Given the description of an element on the screen output the (x, y) to click on. 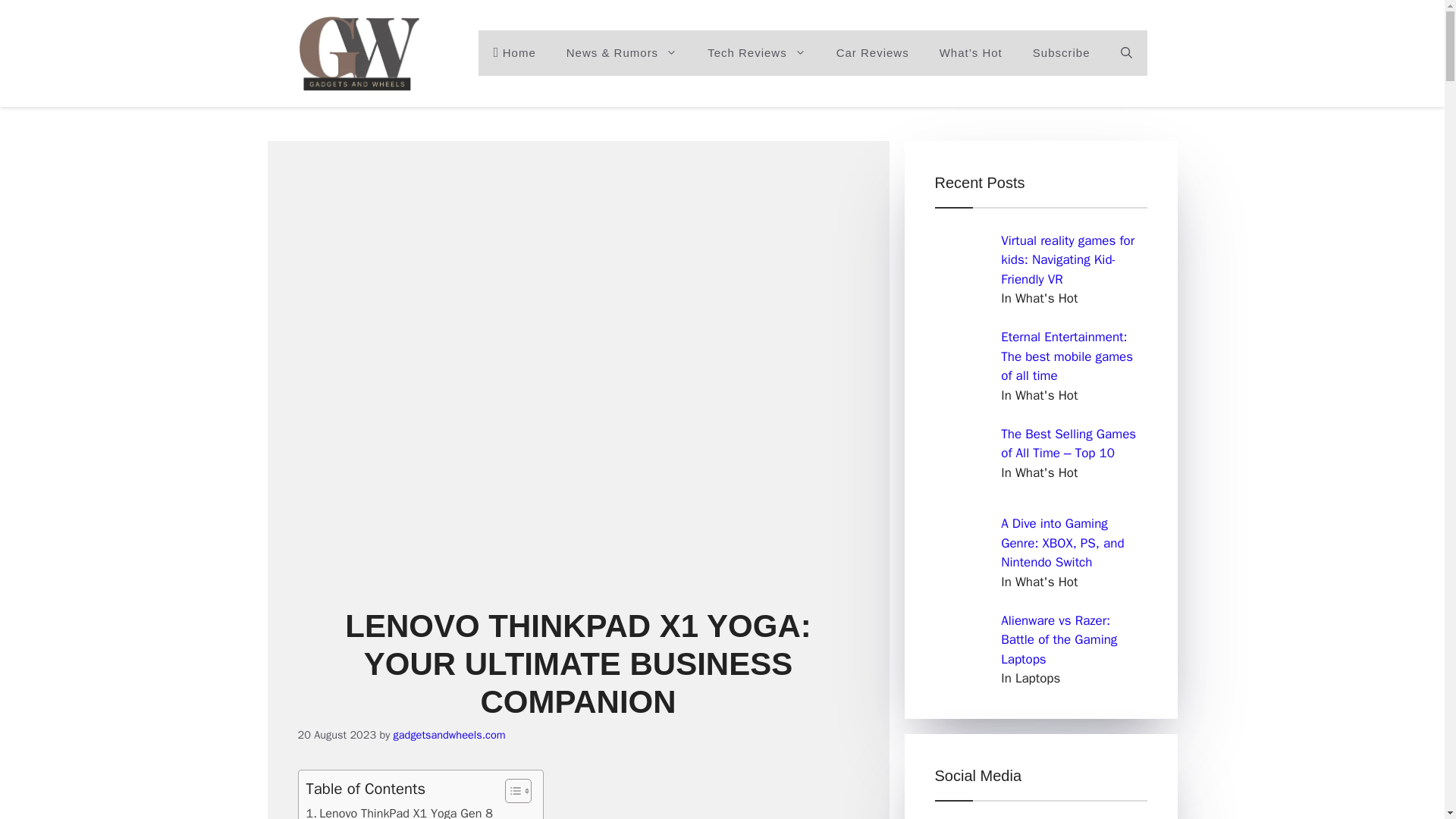
A Dive into Gaming Genre: XBOX, PS, and Nintendo Switch (962, 545)
Subscribe (1061, 53)
Lenovo ThinkPad X1 Yoga Gen 8 (399, 811)
View all posts by gadgetsandwheels.com (449, 735)
Car Reviews (872, 53)
Alienware vs Razer: Battle of the Gaming Laptops (962, 643)
Home (515, 53)
gadgetsandwheels.com (449, 735)
The Best Selling Games of All Time - Top 10 (962, 456)
